Given the description of an element on the screen output the (x, y) to click on. 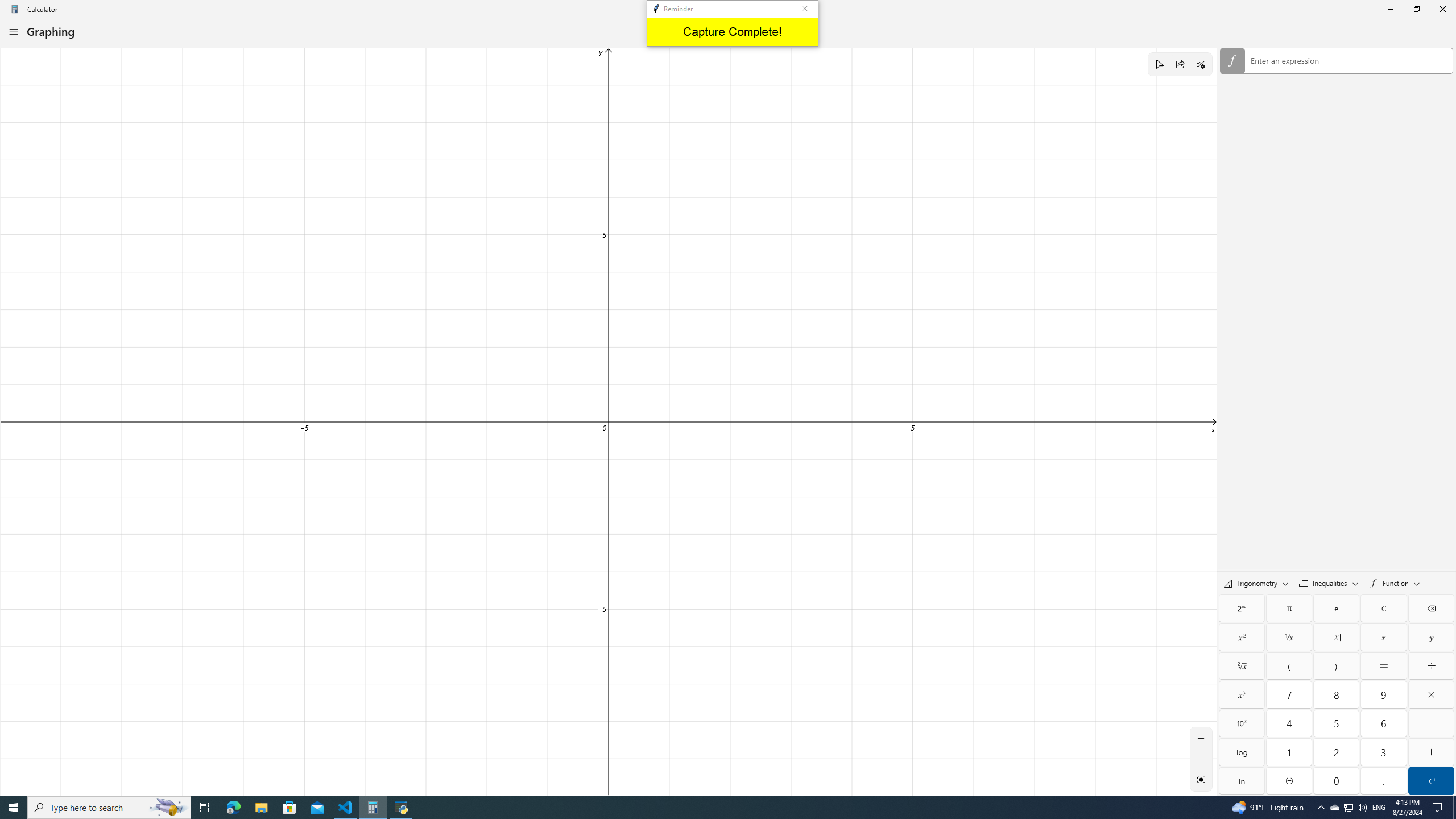
Reciprocal (1288, 637)
Close Calculator (1442, 9)
Graph view (1200, 779)
Two (1336, 751)
Open Navigation (13, 31)
One (1288, 751)
Inequalities (1328, 582)
Plus (1430, 751)
Submit (1430, 780)
Clear (1382, 608)
Y (1430, 637)
Decimal separator (1382, 780)
Zero (1336, 780)
